Given the description of an element on the screen output the (x, y) to click on. 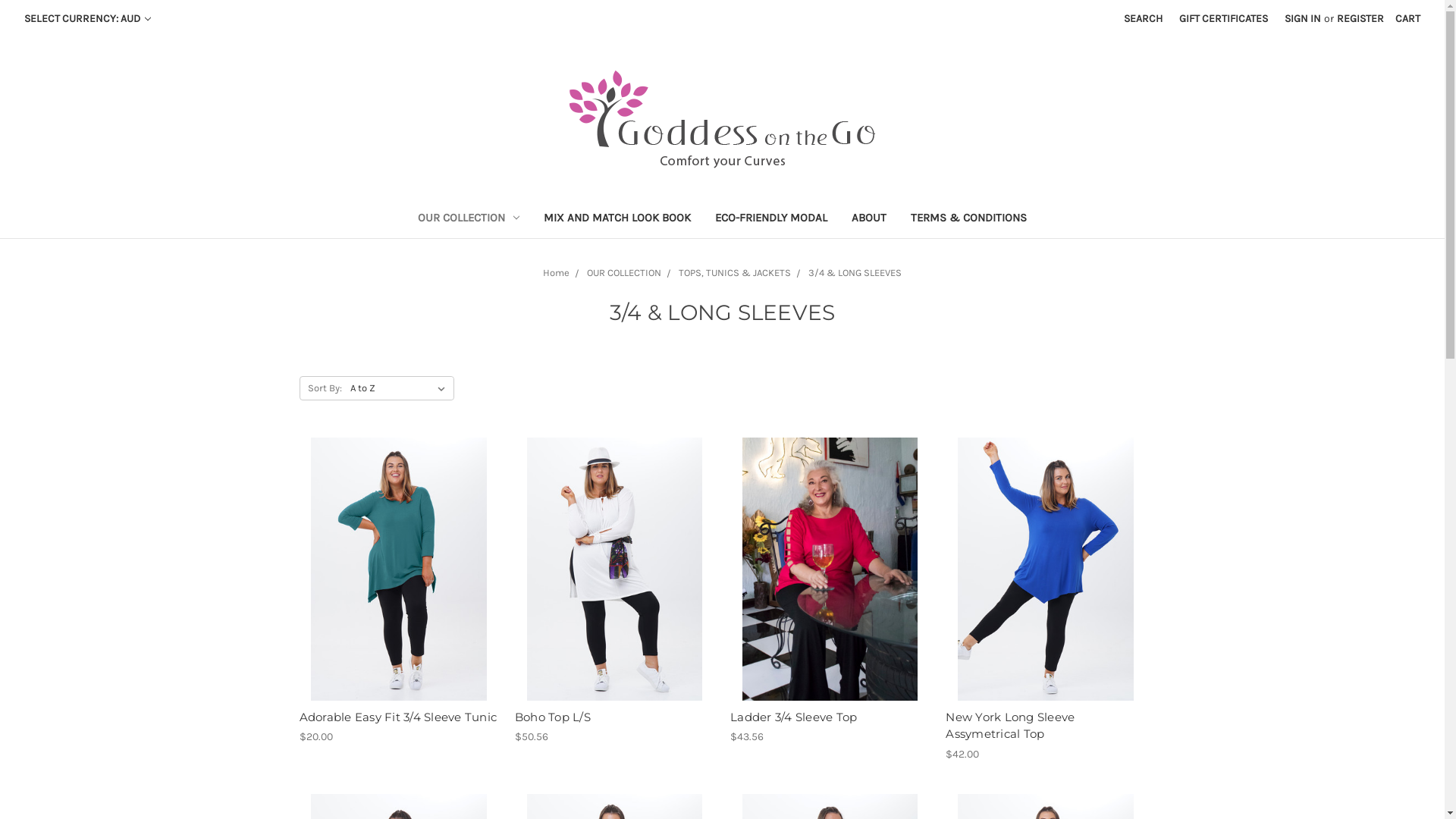
GIFT CERTIFICATES Element type: text (1223, 18)
Ladder 3/4 Sleeve Top Element type: hover (829, 568)
ECO-FRIENDLY MODAL Element type: text (770, 219)
CART Element type: text (1407, 18)
Ladder 3/4 Sleeve Top Element type: text (793, 716)
Home Element type: text (555, 272)
Adorable Easy Fit 3/4 Sleeve Tunic Element type: hover (398, 568)
REGISTER Element type: text (1360, 18)
New York front view Element type: hover (1045, 568)
MIX AND MATCH LOOK BOOK Element type: text (616, 219)
SEARCH Element type: text (1142, 18)
OUR COLLECTION Element type: text (623, 272)
Boho Top L/S Element type: hover (614, 568)
Boho Top L/S Element type: text (552, 716)
TOPS, TUNICS & JACKETS Element type: text (734, 272)
Adorable Easy Fit 3/4 Sleeve Tunic Element type: text (397, 716)
OUR COLLECTION Element type: text (468, 219)
TERMS & CONDITIONS Element type: text (968, 219)
Goddess on the Go Element type: hover (721, 119)
SIGN IN Element type: text (1302, 18)
New York Long Sleeve Assymetrical Top Element type: text (1009, 725)
ABOUT Element type: text (868, 219)
SELECT CURRENCY: AUD Element type: text (87, 18)
